Given the description of an element on the screen output the (x, y) to click on. 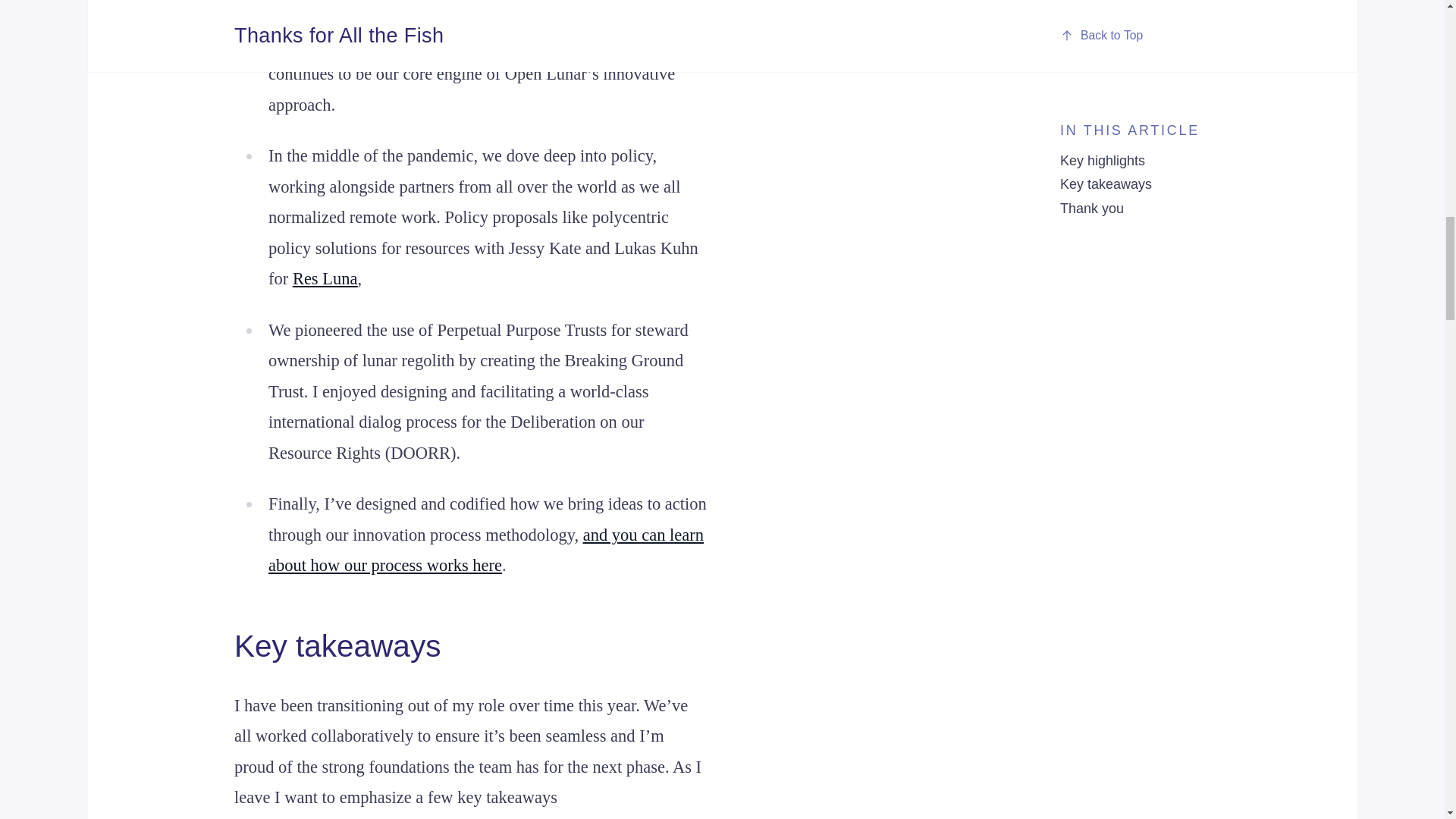
Res Luna (325, 278)
fellowship program (553, 12)
and you can learn about how our process works here (485, 550)
